Given the description of an element on the screen output the (x, y) to click on. 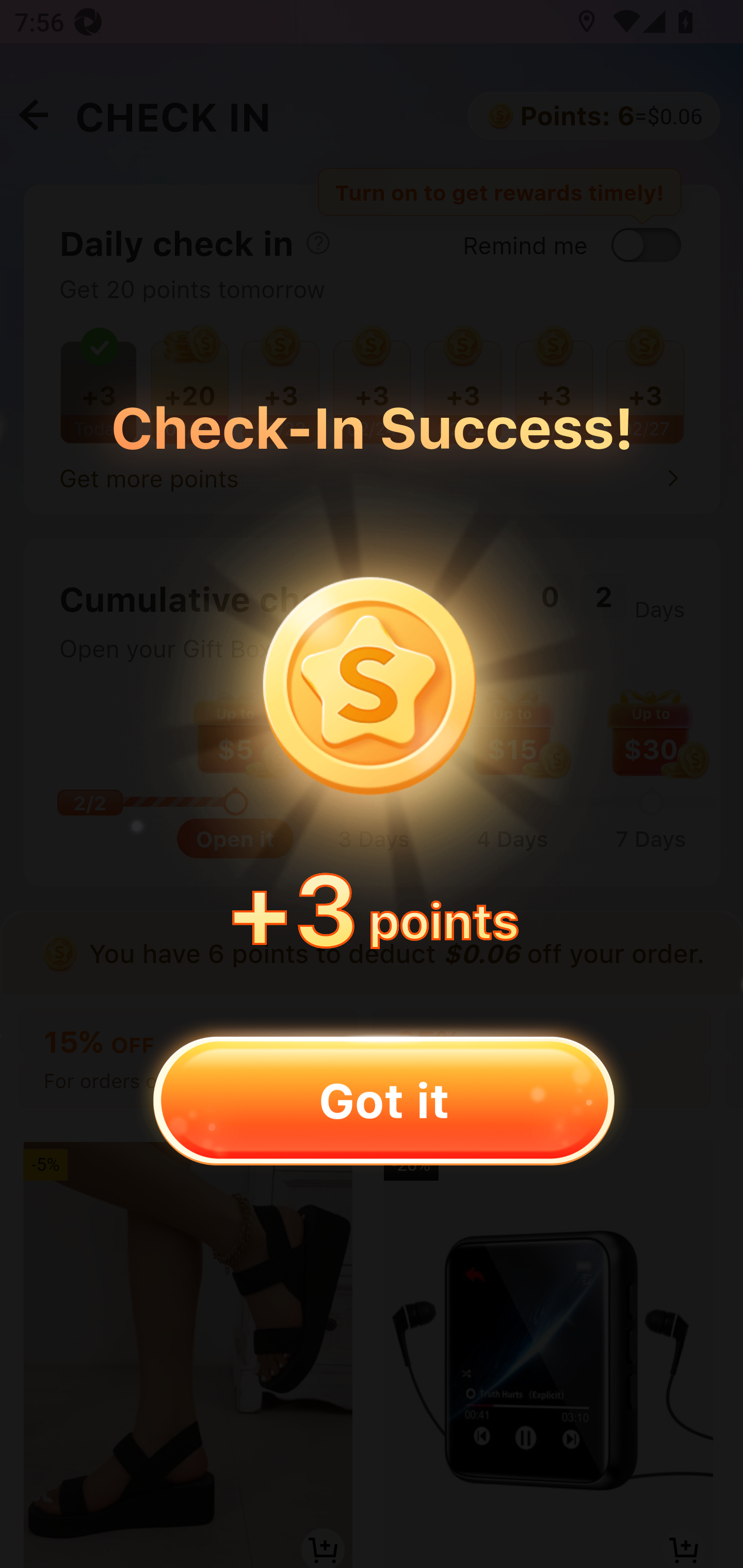
Got it (383, 1099)
